Given the description of an element on the screen output the (x, y) to click on. 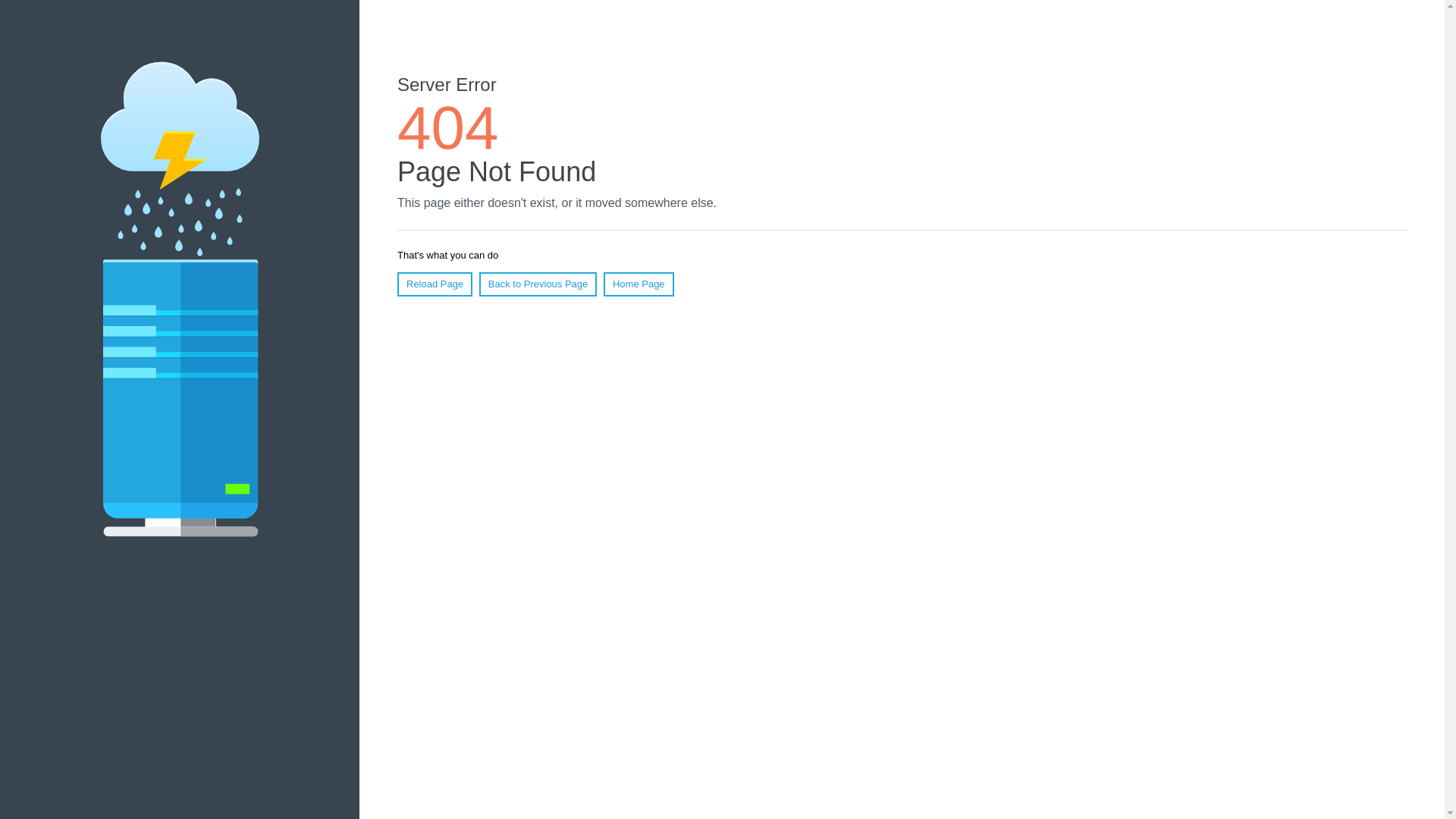
Back to Previous Page Element type: text (538, 284)
Reload Page Element type: text (434, 284)
Home Page Element type: text (638, 284)
